Given the description of an element on the screen output the (x, y) to click on. 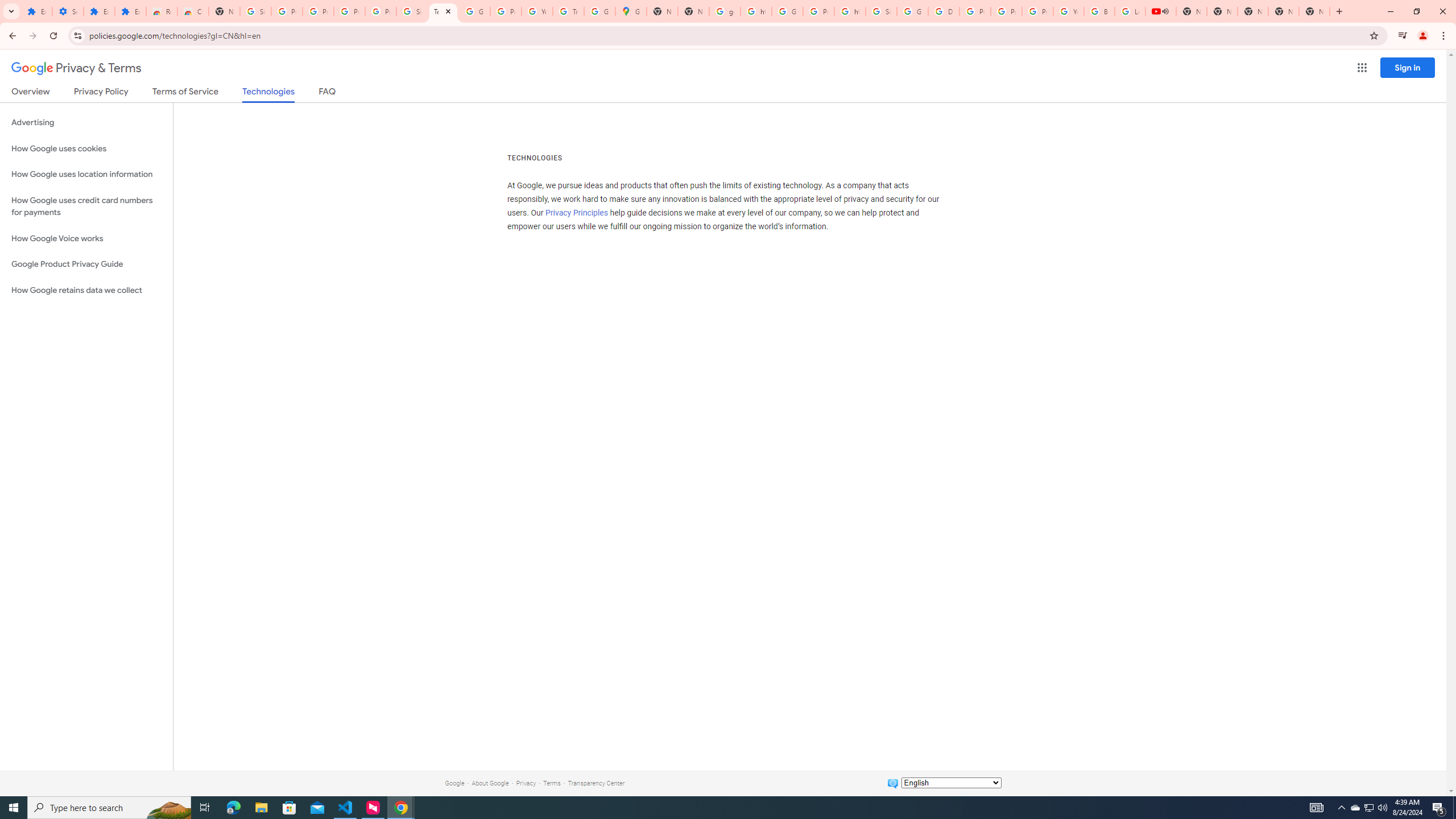
How Google Voice works (86, 238)
Extensions (36, 11)
Reviews: Helix Fruit Jump Arcade Game (161, 11)
How Google uses credit card numbers for payments (86, 206)
Transparency Center (595, 783)
Extensions (98, 11)
https://scholar.google.com/ (756, 11)
How Google uses cookies (86, 148)
